Given the description of an element on the screen output the (x, y) to click on. 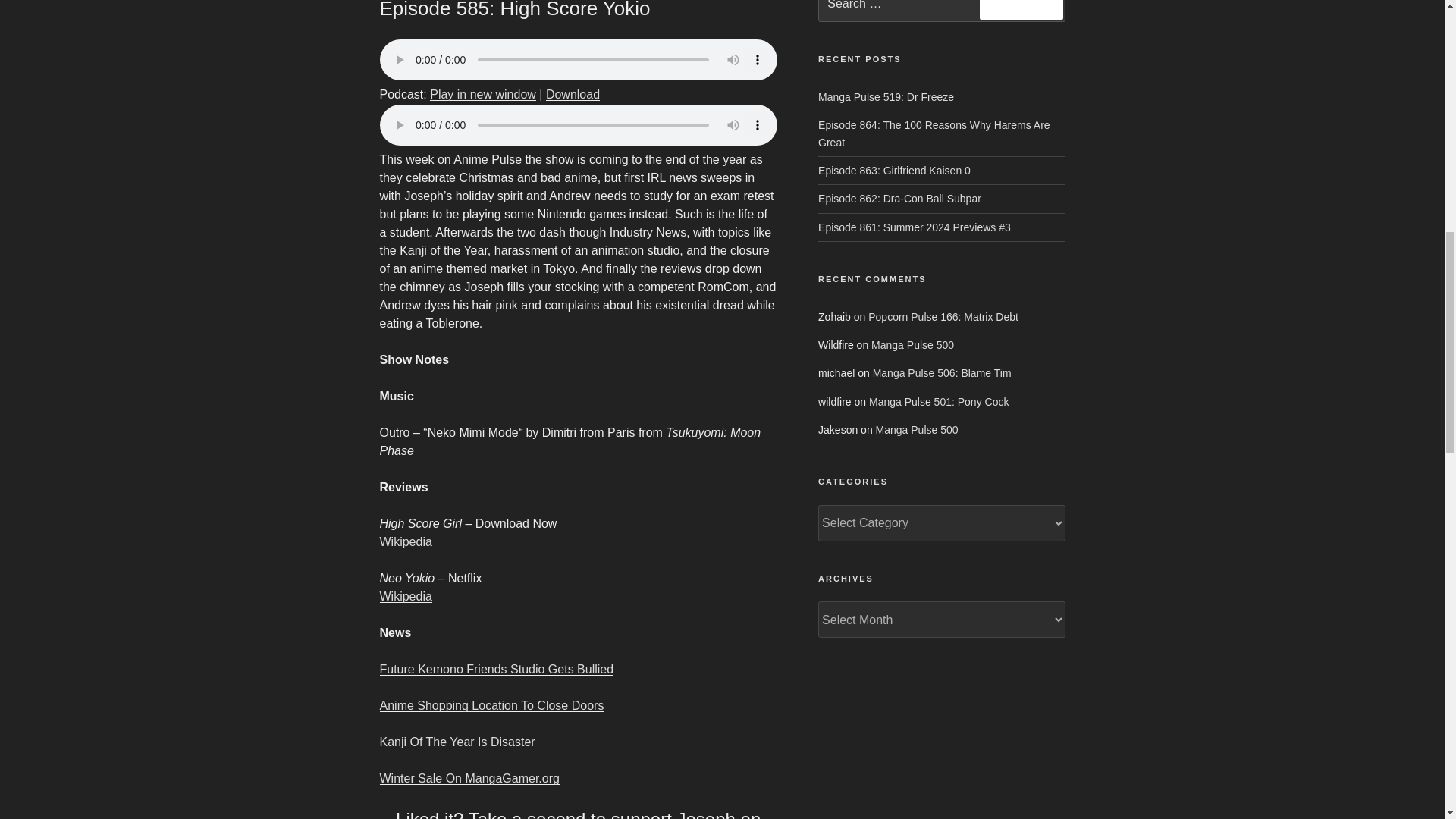
Manga Pulse 506: Blame Tim (941, 372)
Popcorn Pulse 166: Matrix Debt (942, 316)
Episode 864: The 100 Reasons Why Harems Are Great (933, 133)
Play in new window (482, 93)
Episode 863: Girlfriend Kaisen 0 (894, 170)
Wikipedia (404, 541)
Manga Pulse 500 (911, 345)
Wikipedia (404, 595)
Download (572, 93)
Download (572, 93)
